Given the description of an element on the screen output the (x, y) to click on. 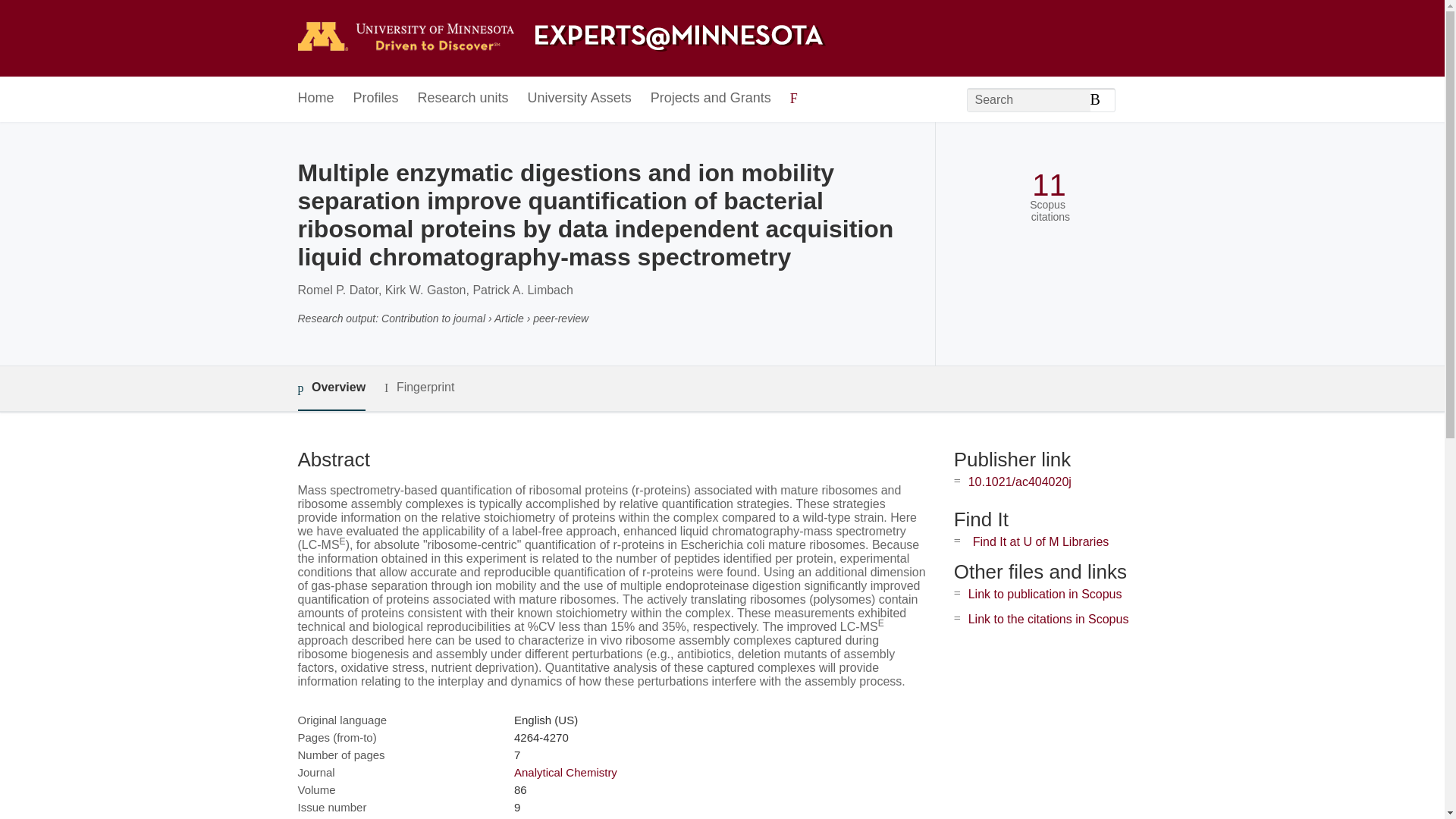
Research units (462, 98)
University Assets (579, 98)
Link to publication in Scopus (1045, 594)
11 (1048, 185)
Link to the citations in Scopus (1048, 618)
Profiles (375, 98)
Overview (331, 388)
Analytical Chemistry (565, 771)
Find It at U of M Libraries (1040, 541)
Projects and Grants (710, 98)
Fingerprint (419, 387)
